Given the description of an element on the screen output the (x, y) to click on. 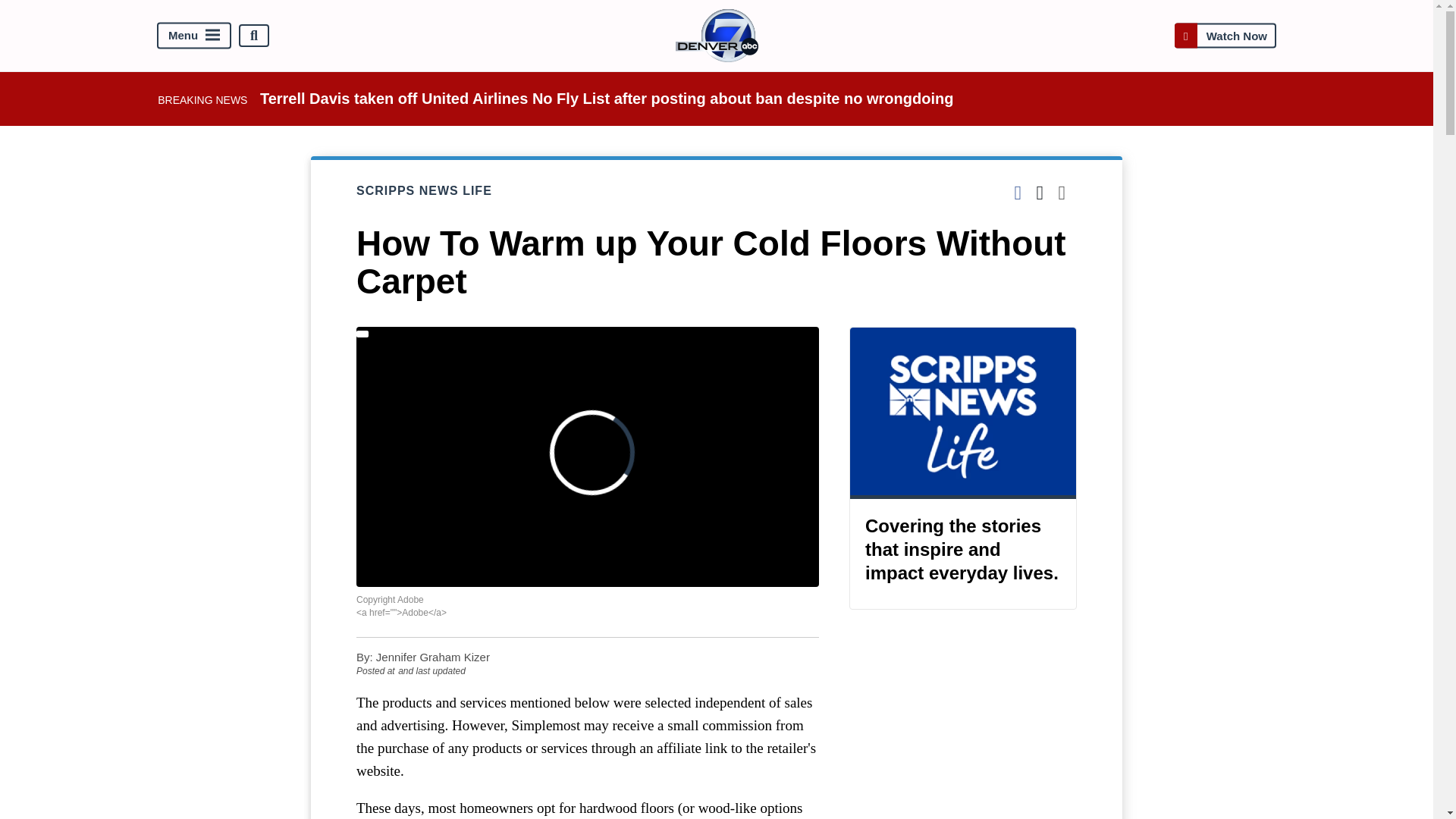
Watch Now (1224, 34)
Menu (194, 35)
